Given the description of an element on the screen output the (x, y) to click on. 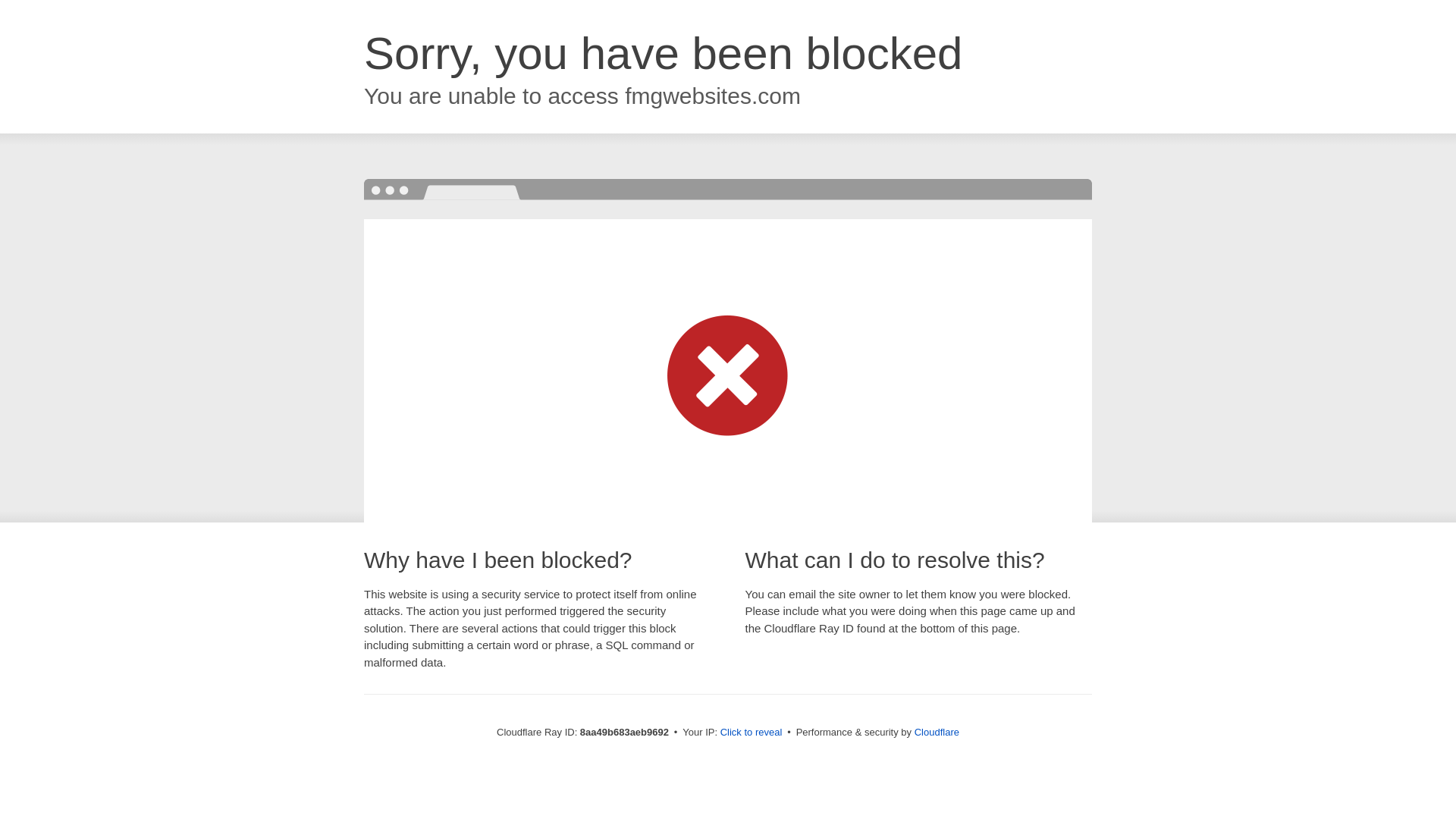
Click to reveal (751, 732)
Cloudflare (936, 731)
